Given the description of an element on the screen output the (x, y) to click on. 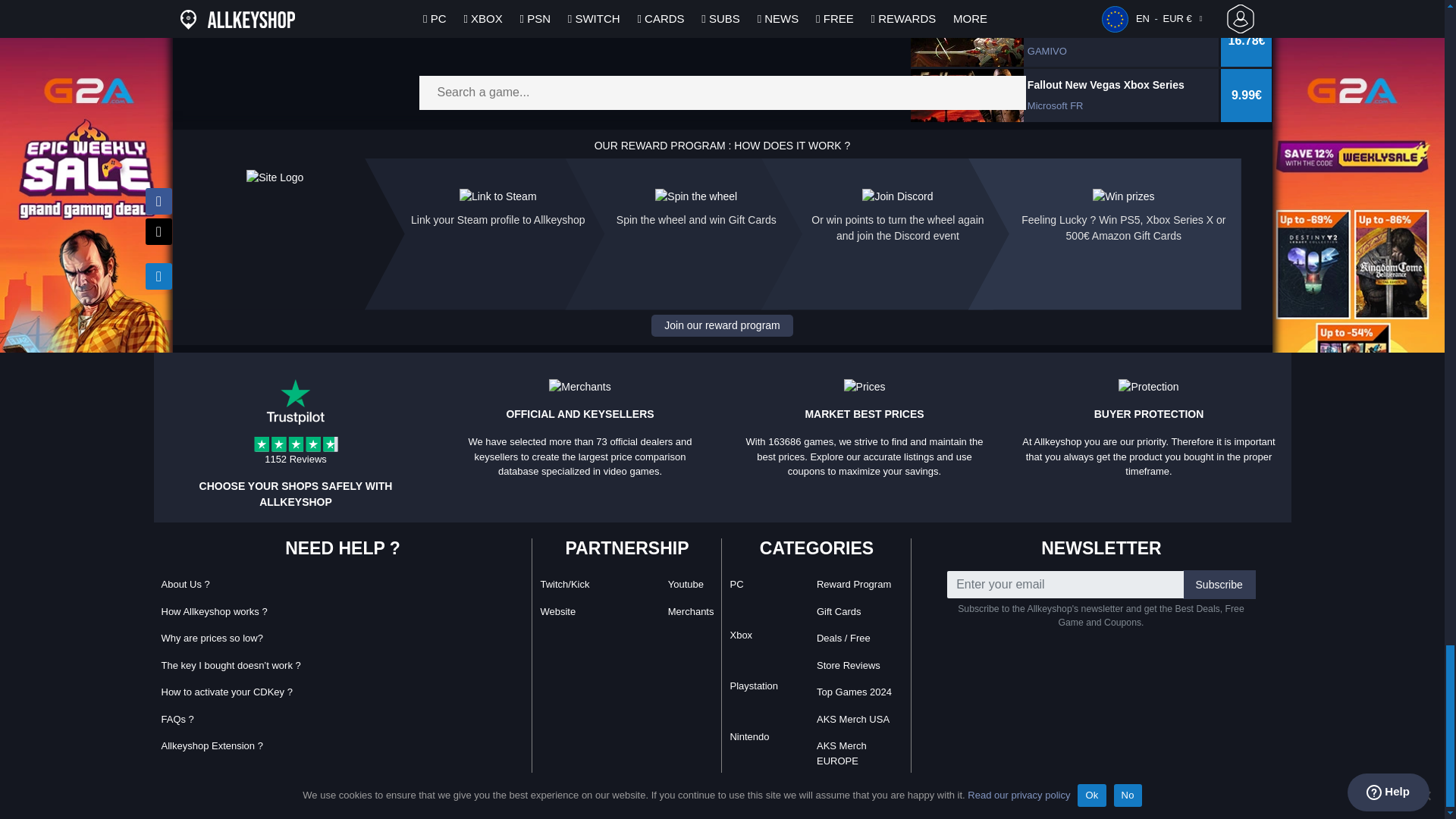
Subscribe (1218, 584)
